Given the description of an element on the screen output the (x, y) to click on. 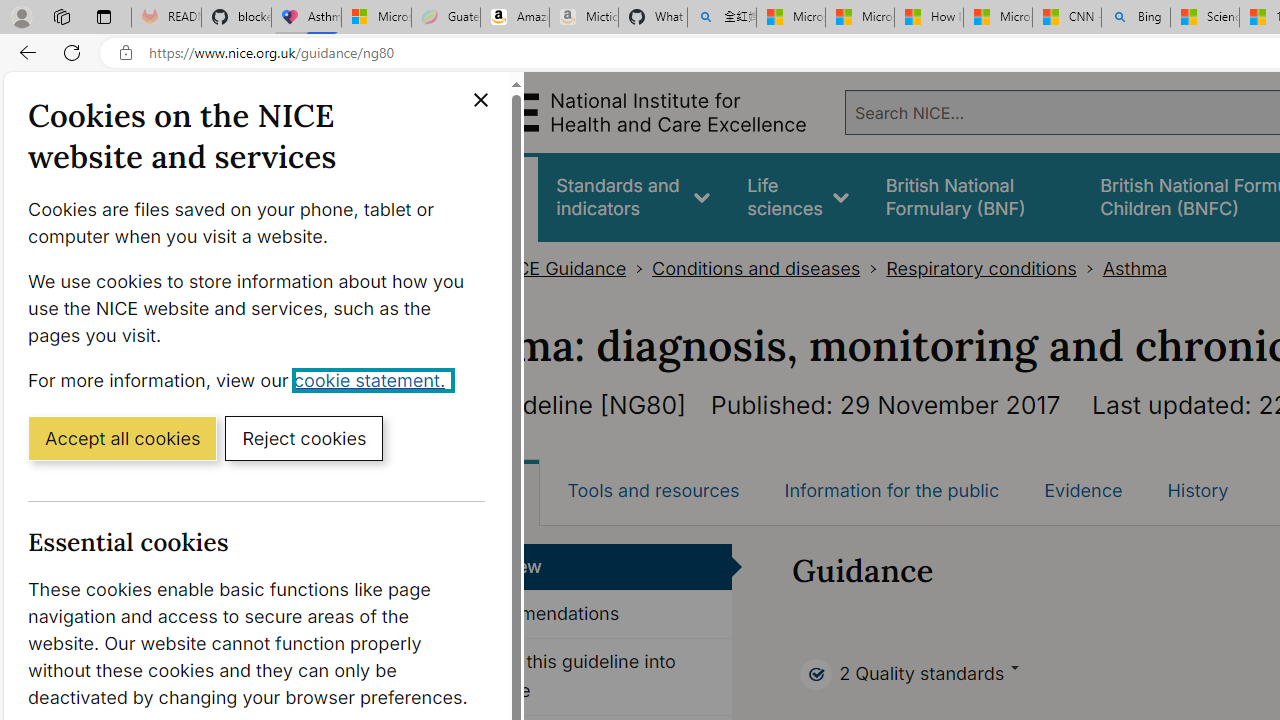
Overview (587, 566)
Respiratory conditions> (994, 268)
CNN - MSN (1066, 17)
Conditions and diseases> (769, 268)
Close cookie banner (480, 99)
NICE Guidance> (574, 268)
Putting this guideline into practice (588, 676)
Accept all cookies (122, 437)
